Given the description of an element on the screen output the (x, y) to click on. 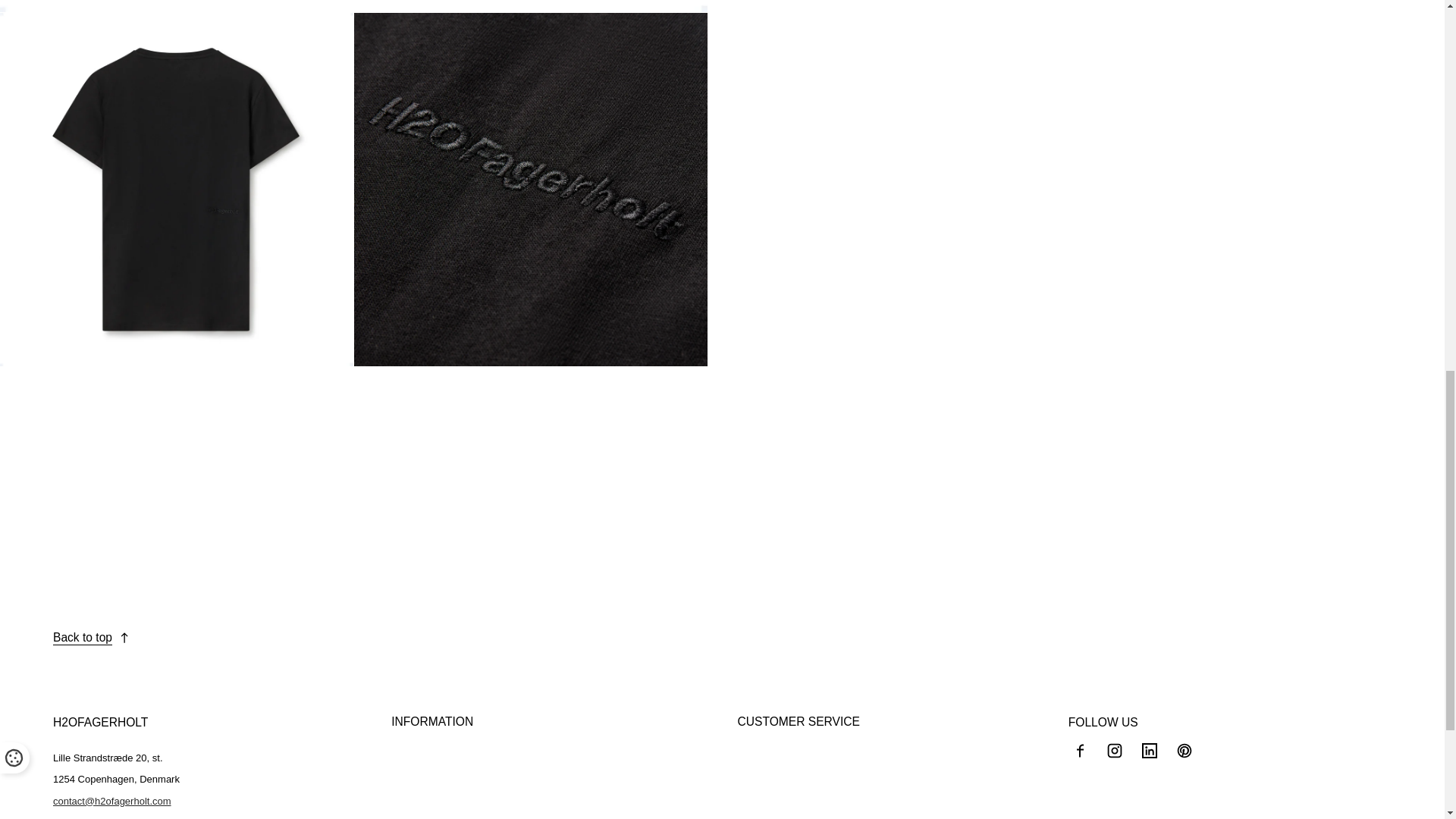
Linkedin (1149, 751)
Instagram (1114, 751)
Pinterest (1184, 751)
